Given the description of an element on the screen output the (x, y) to click on. 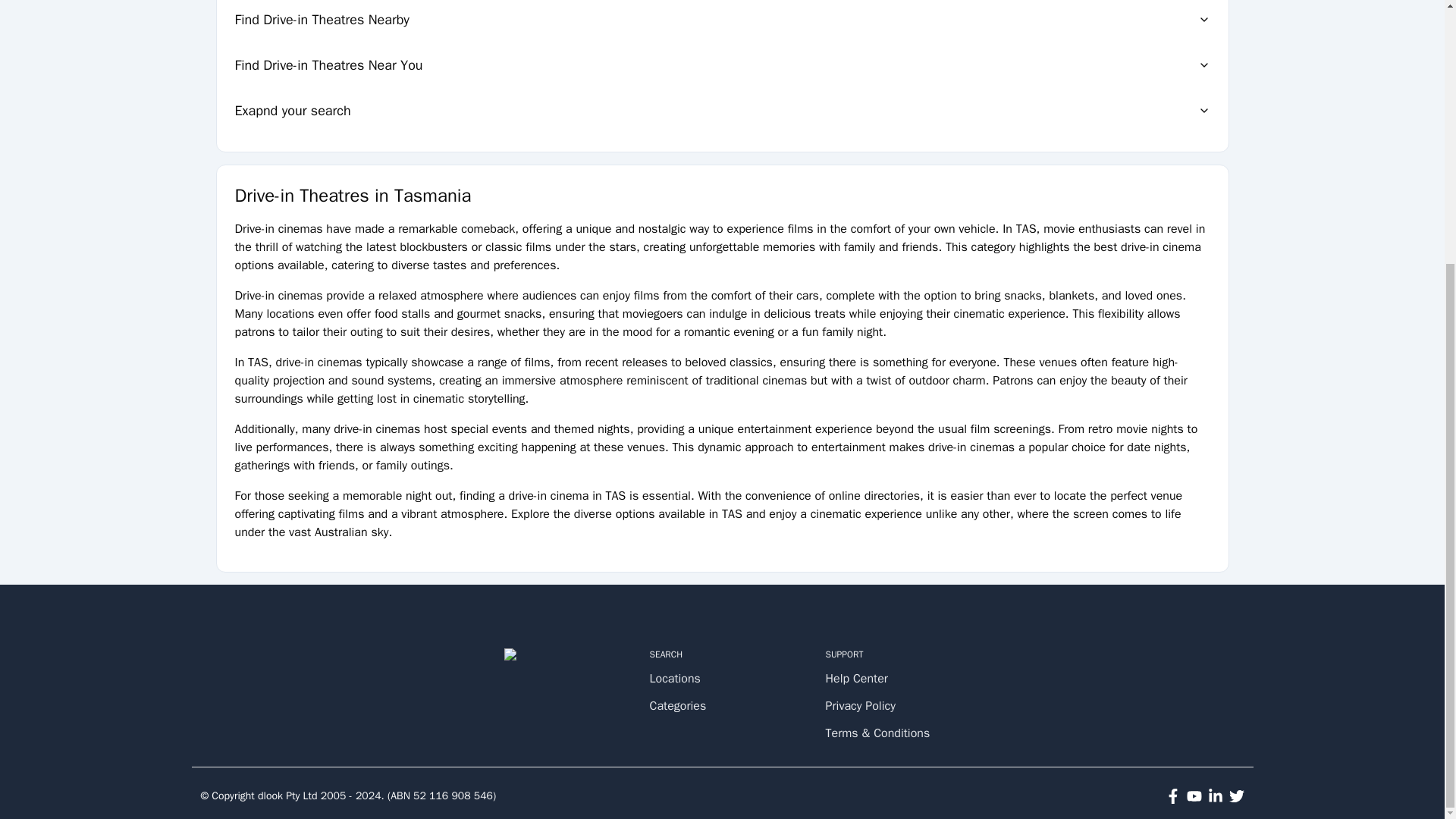
Categories (706, 705)
Find Drive-in Theatres Near You (721, 64)
Help Center (882, 678)
Go to dlook's twitter (1235, 795)
Locations (706, 678)
Privacy Policy (882, 705)
Go to dlook's LinkedIn (1215, 795)
Go to dlook's Youtube (1193, 795)
Find Drive-in Theatres Nearby (721, 21)
Go to dlook's Facebook Page (1171, 795)
